Given the description of an element on the screen output the (x, y) to click on. 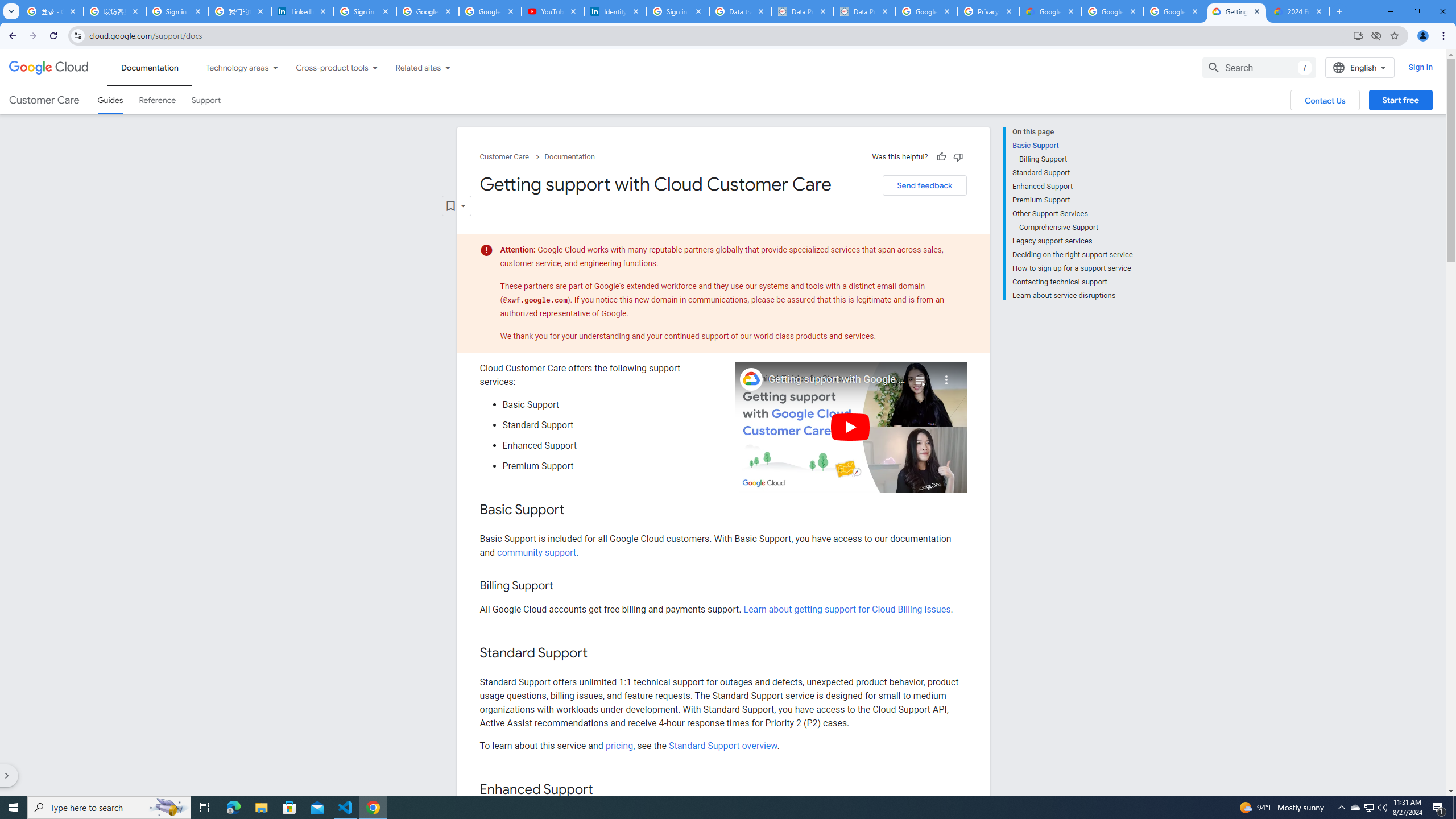
Google Workspace - Specific Terms (1174, 11)
Dropdown menu for Technology areas (274, 67)
Contacting technical support (1071, 282)
Play (850, 426)
Learn about getting support for Cloud Billing issues (847, 609)
Getting support with Google Cloud Customer Care (837, 379)
Support (205, 99)
Sign in - Google Accounts (678, 11)
Helpful (940, 156)
Guides, selected (109, 99)
How to sign up for a support service (1071, 268)
Basic Support (1071, 145)
Data Privacy Framework (864, 11)
